Given the description of an element on the screen output the (x, y) to click on. 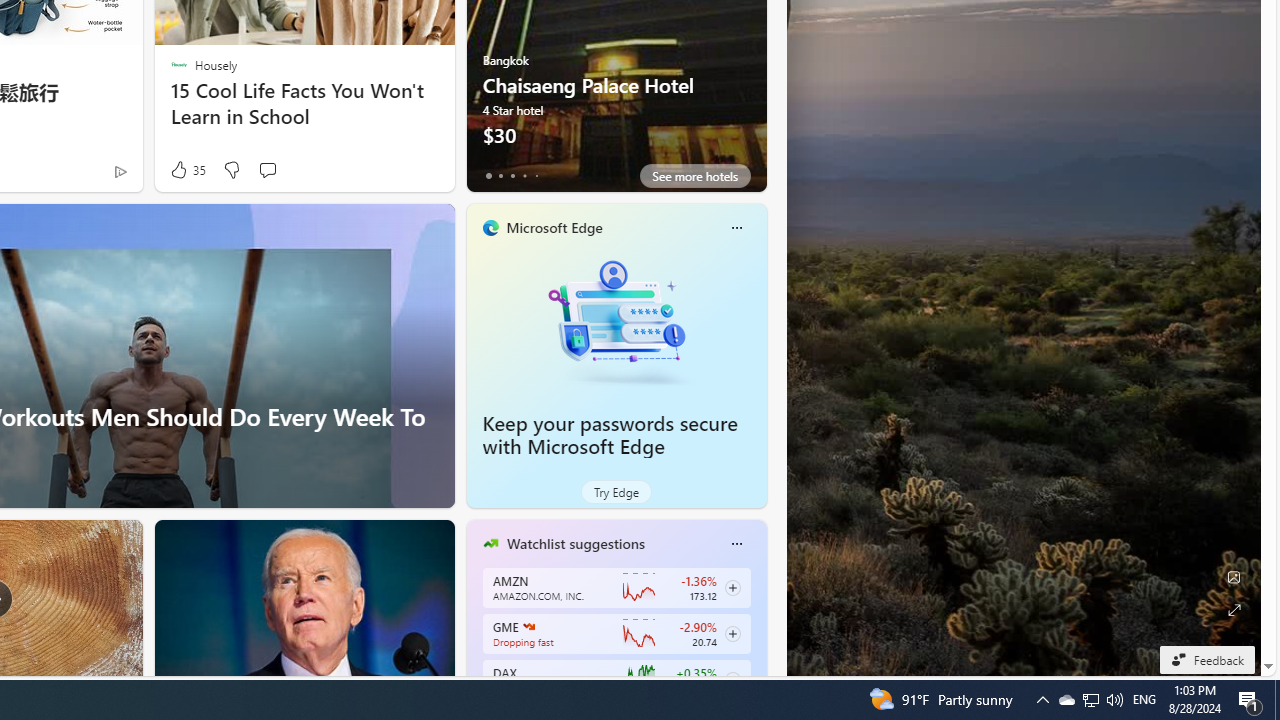
Keep your passwords secure with Microsoft Edge (610, 435)
Microsoft Edge (553, 227)
tab-1 (500, 175)
tab-3 (524, 175)
